Given the description of an element on the screen output the (x, y) to click on. 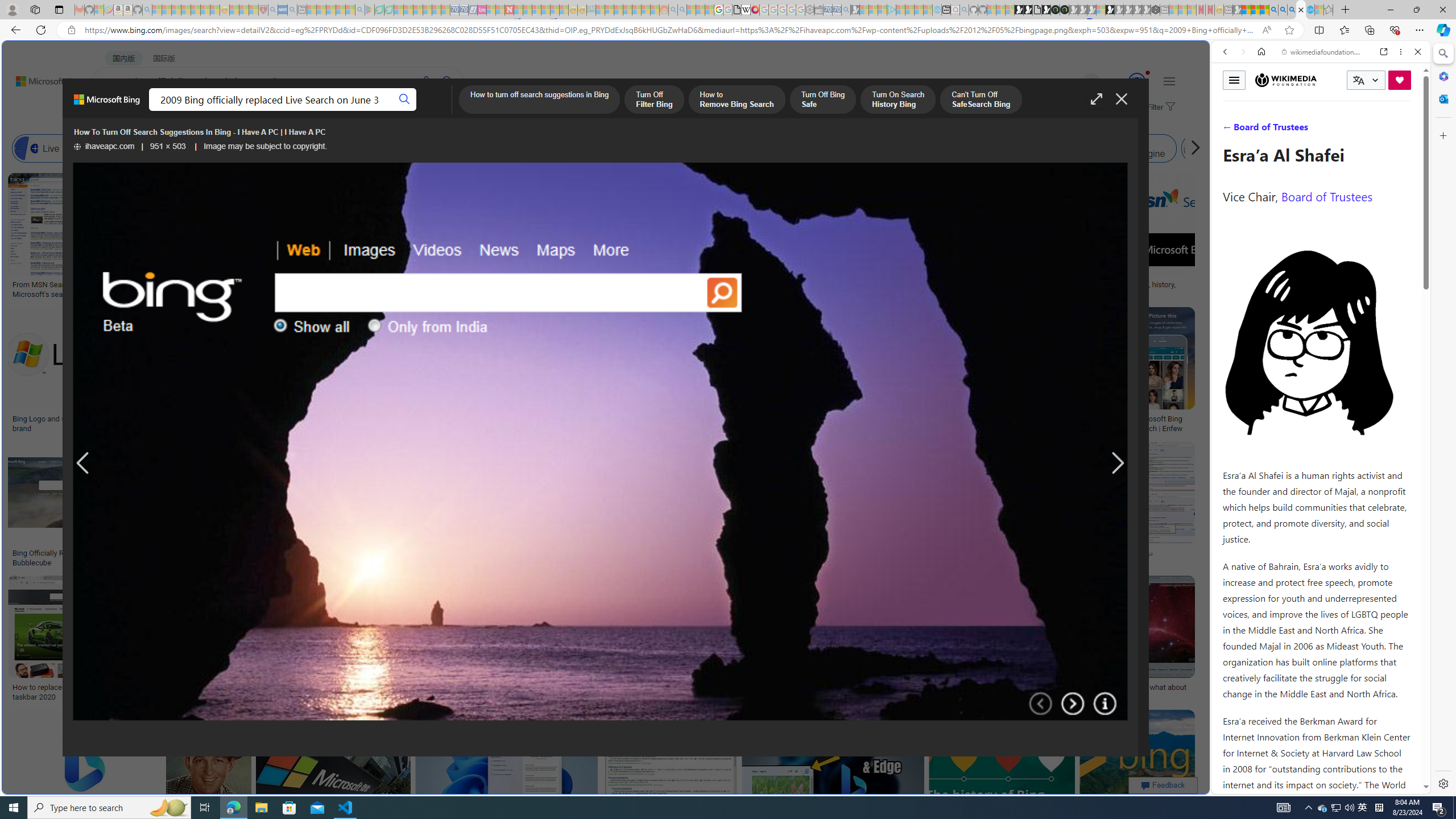
Class: item col (1233, 148)
Filter (1158, 107)
Settings and quick links (1168, 80)
Https Bing Search Q MSN (1234, 148)
Class: i icon icon-translate language-switcher__icon (1358, 80)
Expert Portfolios - Sleeping (627, 9)
